Given the description of an element on the screen output the (x, y) to click on. 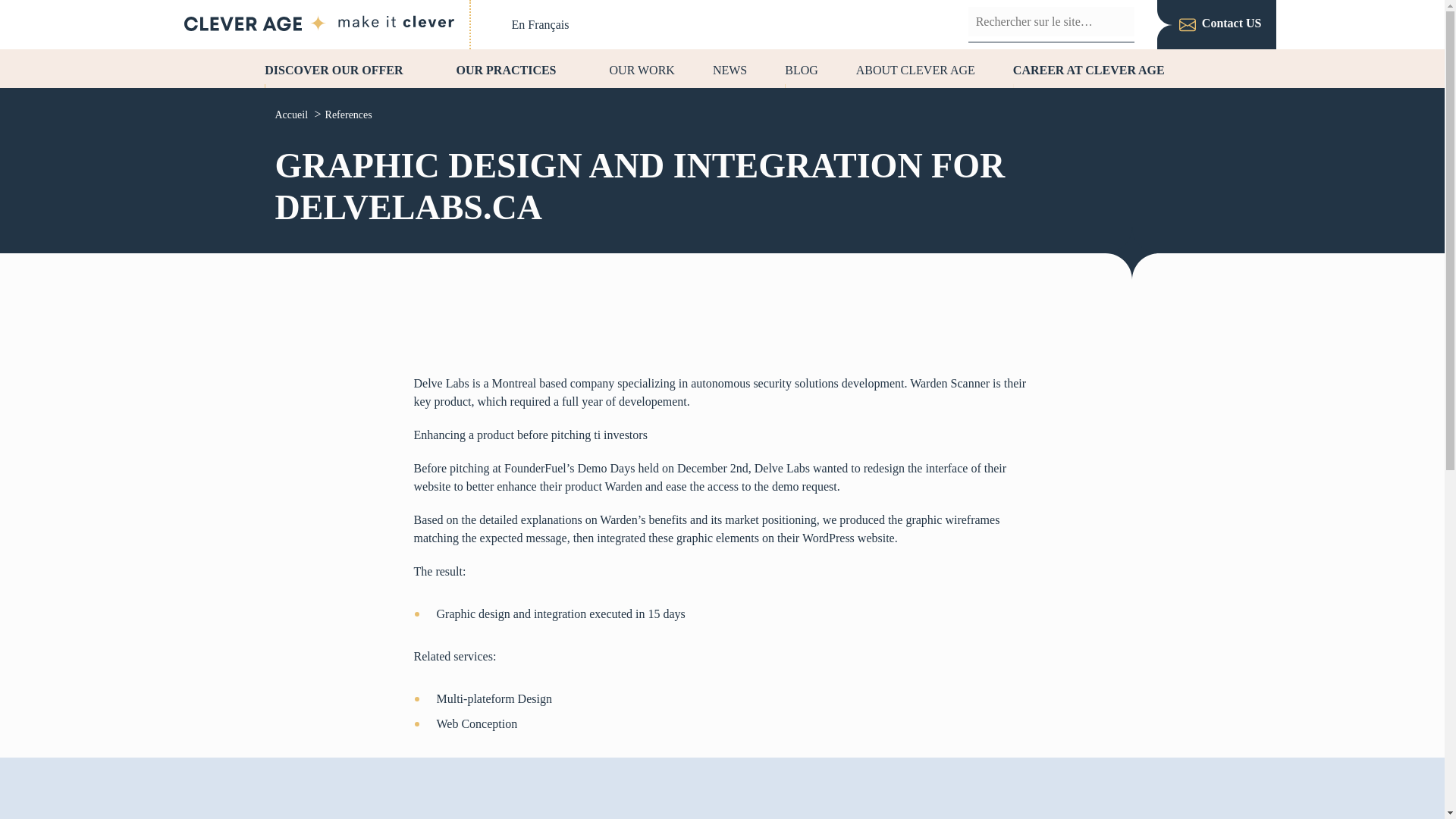
DISCOVER OUR OFFER (340, 68)
Jump directly to main content (12, 99)
Contact US (1220, 24)
References (348, 114)
OUR WORK (642, 68)
CAREER AT CLEVER AGE (1096, 68)
ABOUT CLEVER AGE (915, 68)
Accueil (292, 114)
Accueil - Clever Age Make it clever (318, 24)
OUR PRACTICES (514, 68)
